Given the description of an element on the screen output the (x, y) to click on. 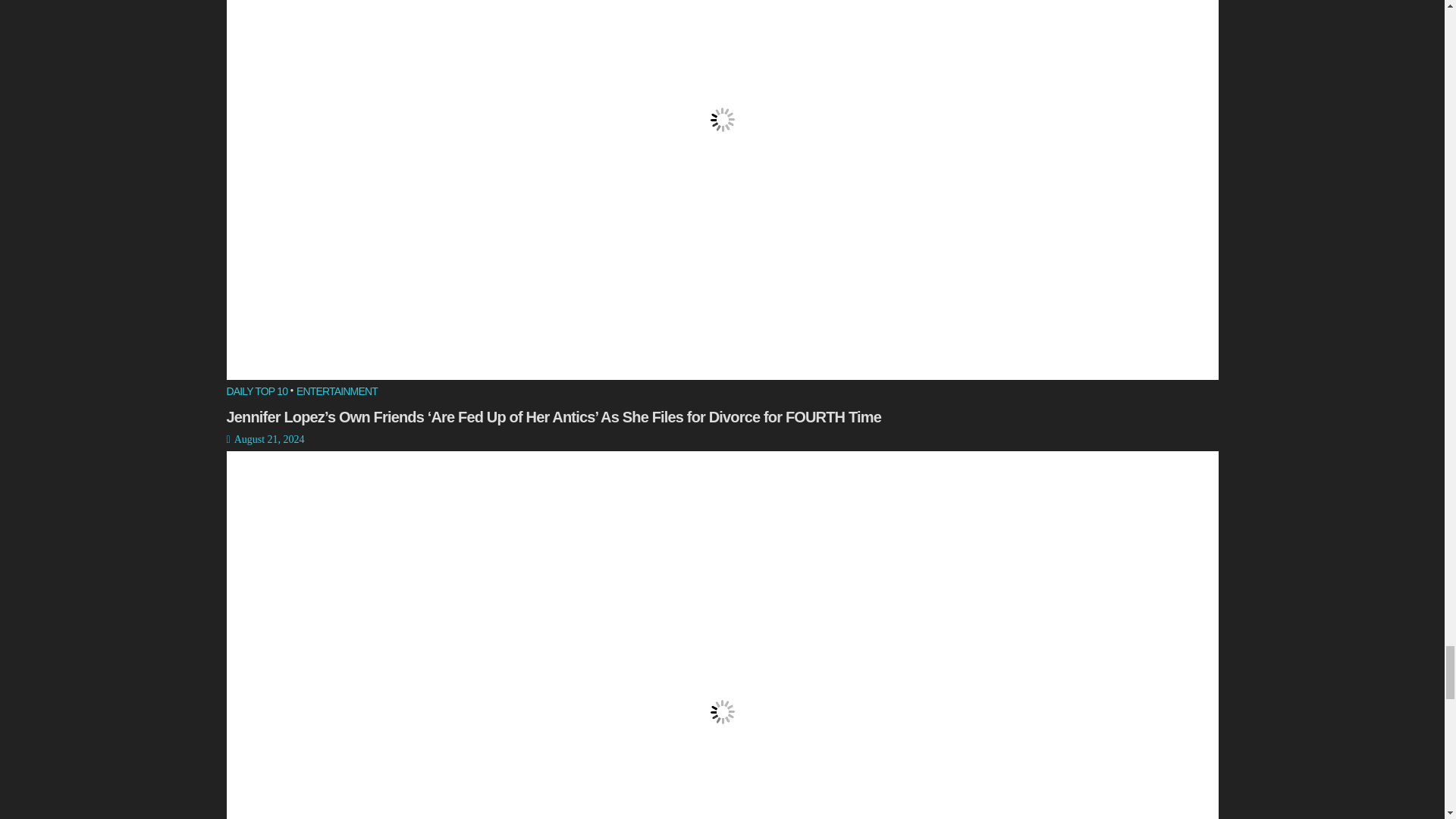
DAILY TOP 10 (255, 392)
ENTERTAINMENT (337, 392)
